Given the description of an element on the screen output the (x, y) to click on. 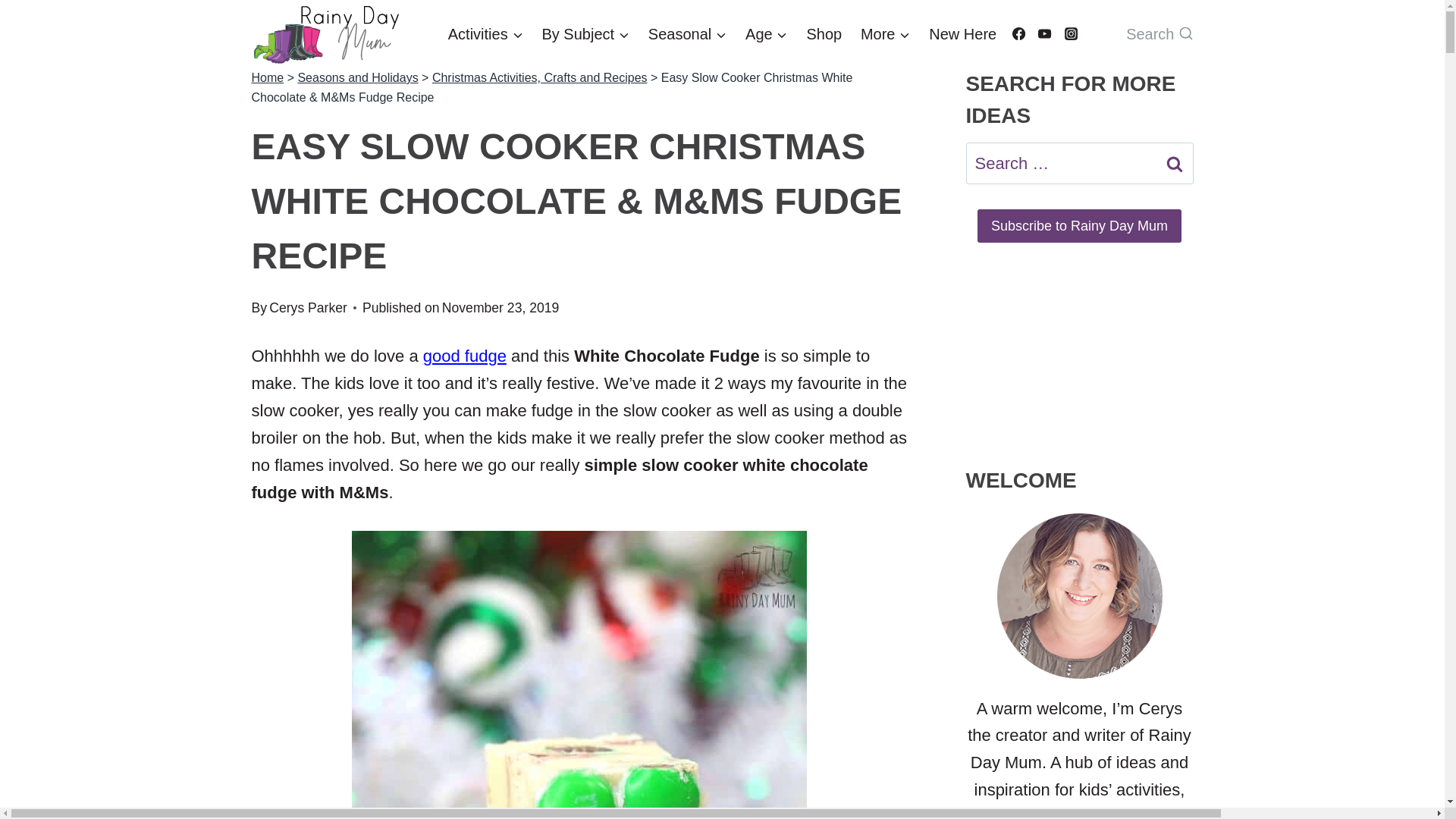
By Subject (585, 34)
Activities (485, 34)
More (885, 34)
Shop (823, 34)
Age (766, 34)
New Here (963, 34)
Search (1174, 163)
Seasonal (687, 34)
Search (1174, 163)
